Given the description of an element on the screen output the (x, y) to click on. 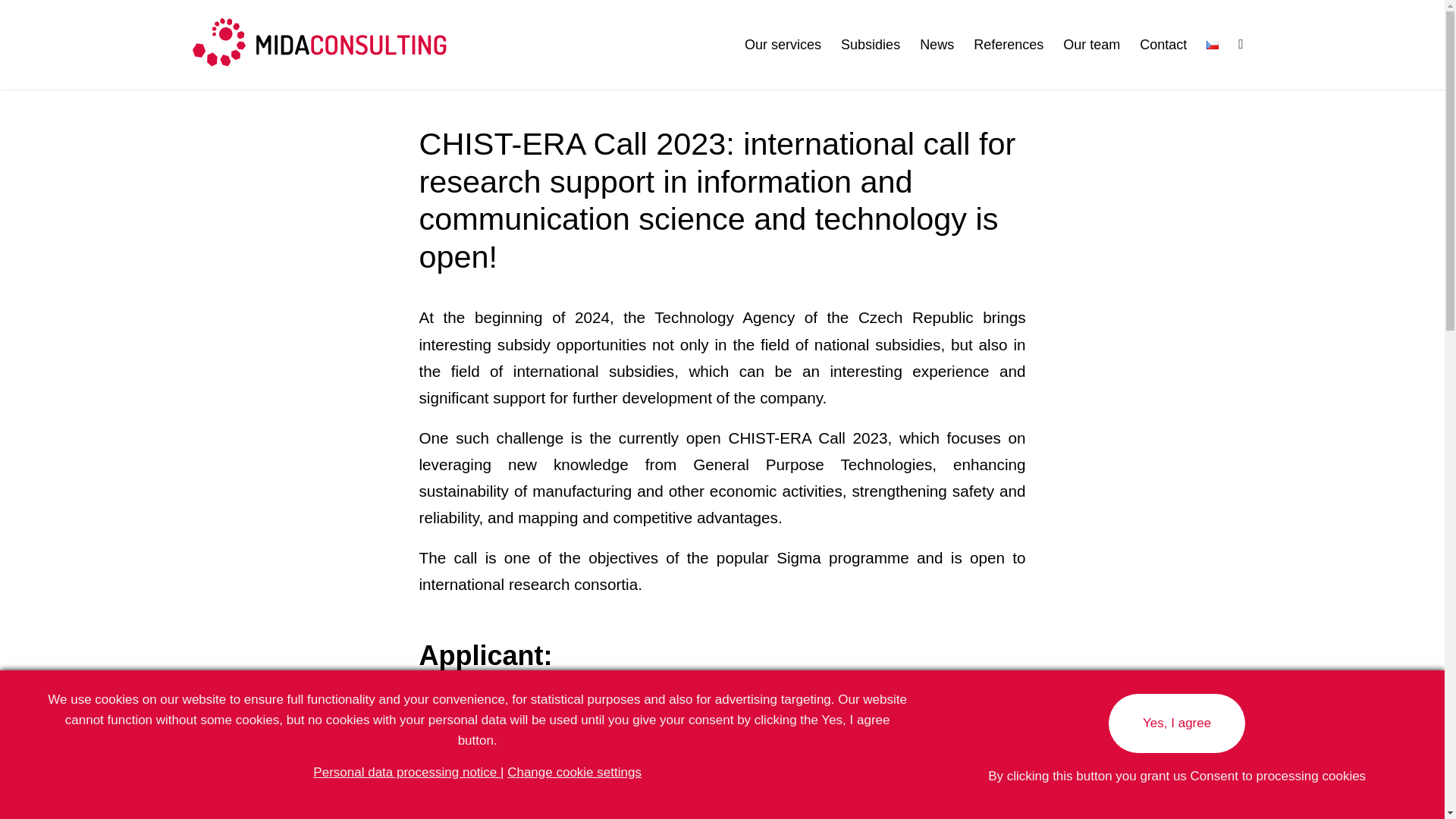
Personal data processing notice (406, 771)
Our services (783, 44)
Yes, I agree (1177, 722)
Change cookie settings (574, 771)
News (936, 44)
References (1007, 44)
Subsidies (870, 44)
Our team (1090, 44)
Contact (1162, 44)
